Given the description of an element on the screen output the (x, y) to click on. 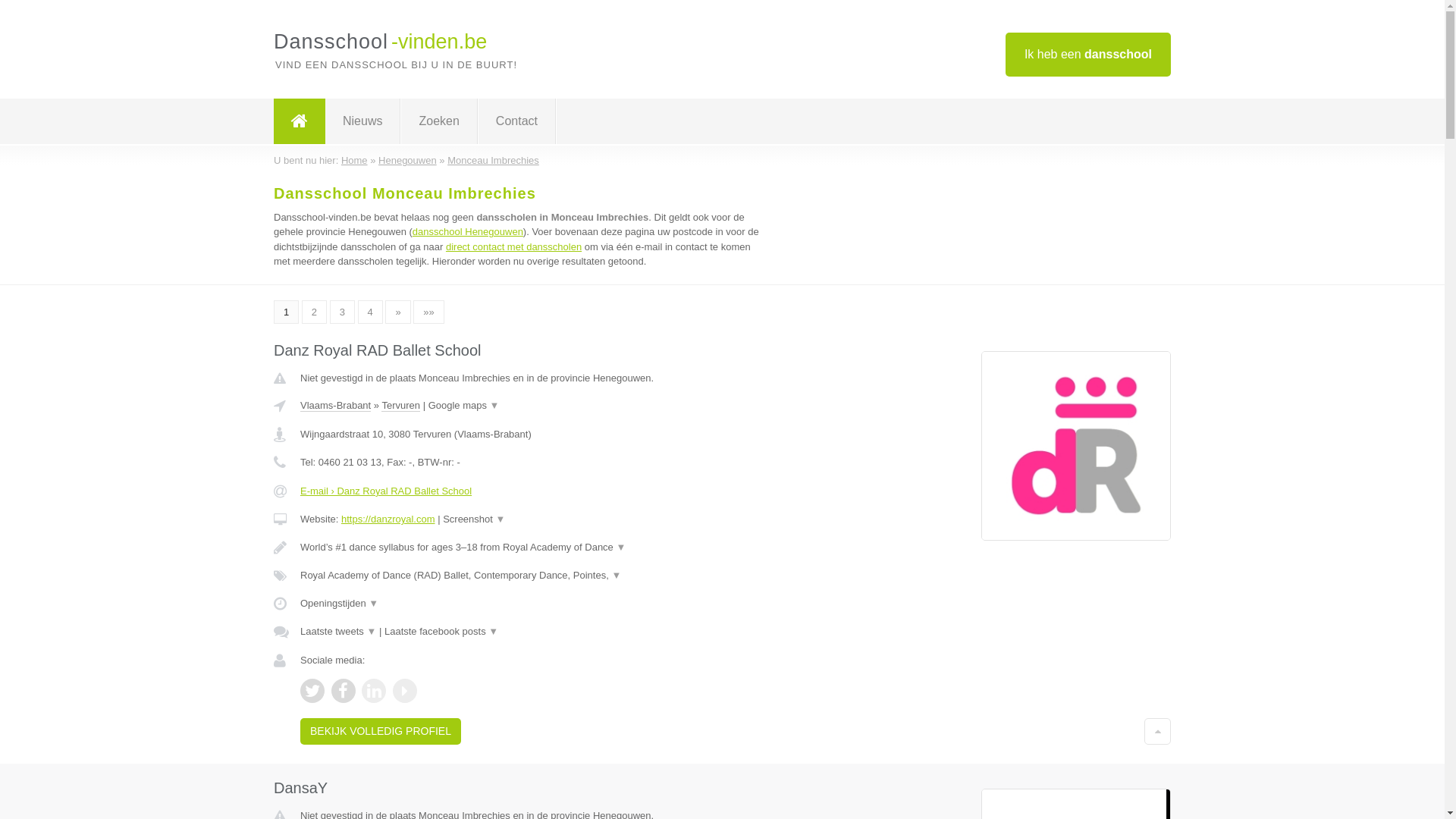
Vlaams-Brabant Element type: text (335, 405)
Dansschool Element type: hover (299, 121)
Home Element type: text (354, 160)
4 Element type: text (369, 311)
Tervuren Element type: text (400, 405)
Henegouwen Element type: text (407, 160)
2 Element type: text (313, 311)
3 Element type: text (341, 311)
dansschool Henegouwen Element type: text (467, 231)
Ga naar de boven Element type: hover (1157, 730)
Dansschool-vinden.be Element type: text (379, 41)
Ik heb een dansschool Element type: text (1087, 54)
direct contact met dansscholen Element type: text (513, 246)
Contact Element type: text (516, 121)
Danz Royal RAD Ballet School Element type: text (376, 350)
Zoeken Element type: text (438, 121)
1 Element type: text (285, 311)
https://danzroyal.com Element type: text (388, 518)
Monceau Imbrechies Element type: text (493, 160)
Nieuws Element type: text (362, 121)
BEKIJK VOLLEDIG PROFIEL Element type: text (380, 730)
DansaY Element type: text (300, 787)
